Given the description of an element on the screen output the (x, y) to click on. 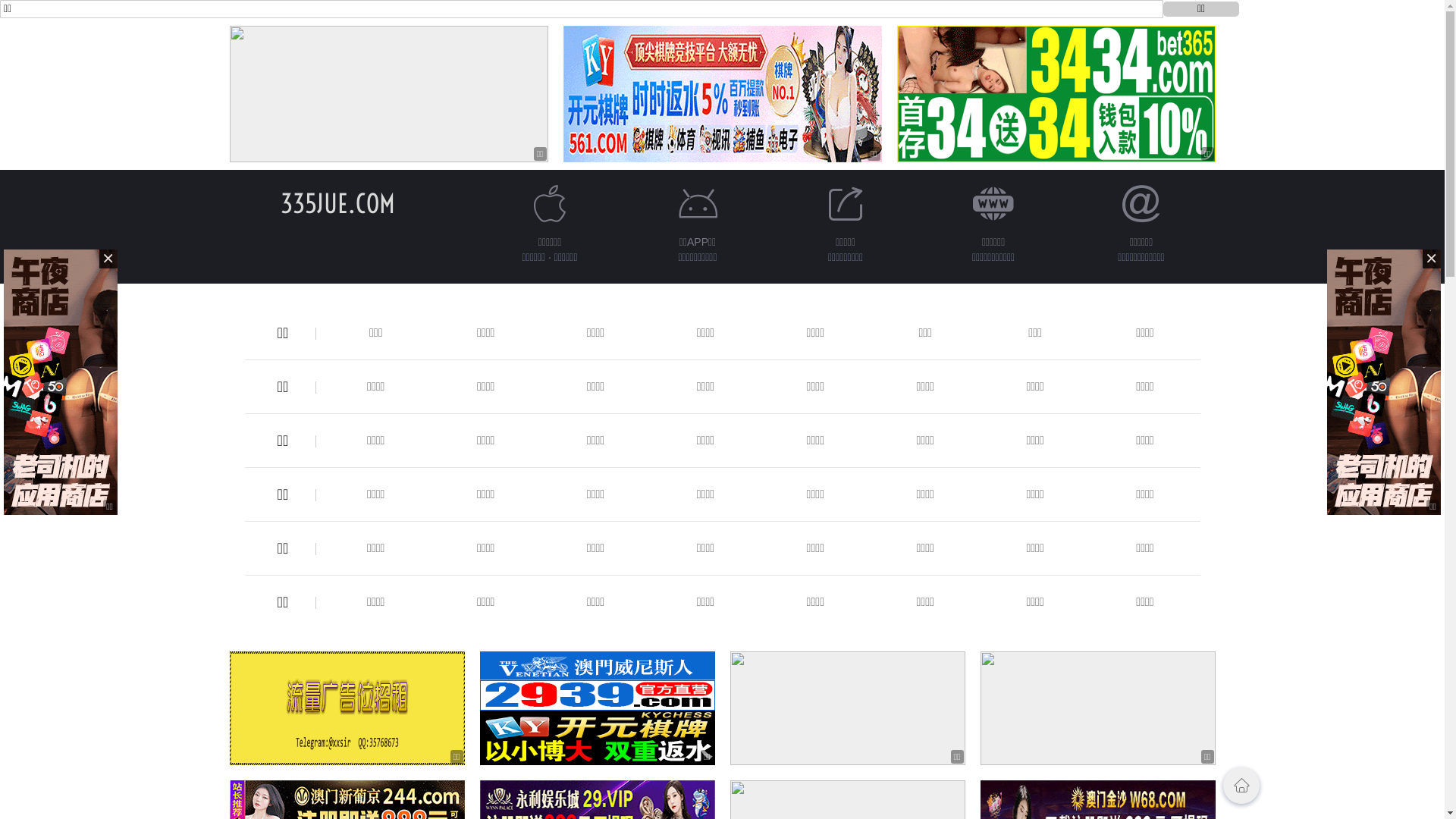
335JUE.COM Element type: text (337, 203)
